Given the description of an element on the screen output the (x, y) to click on. 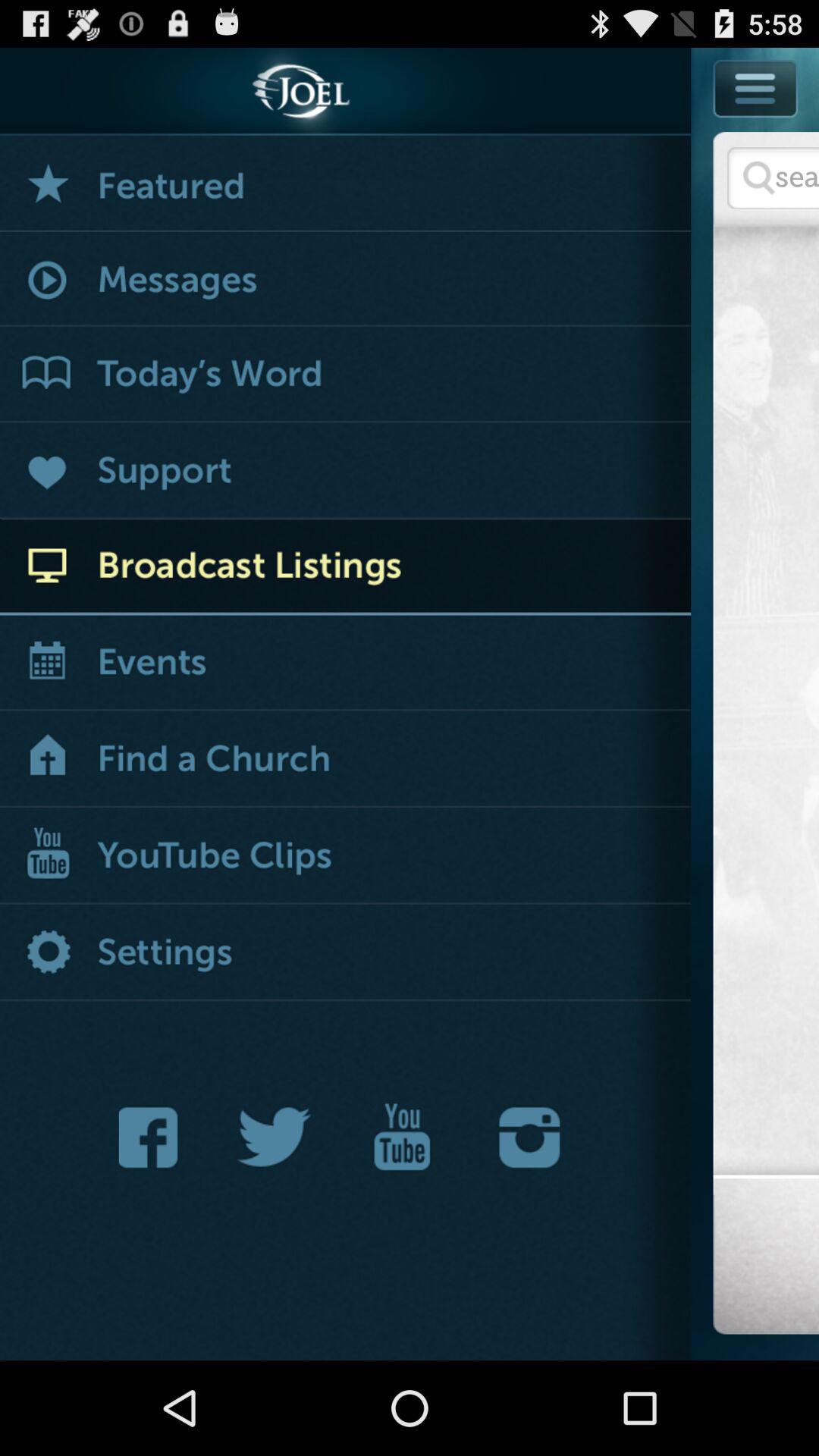
find a church option (345, 760)
